Given the description of an element on the screen output the (x, y) to click on. 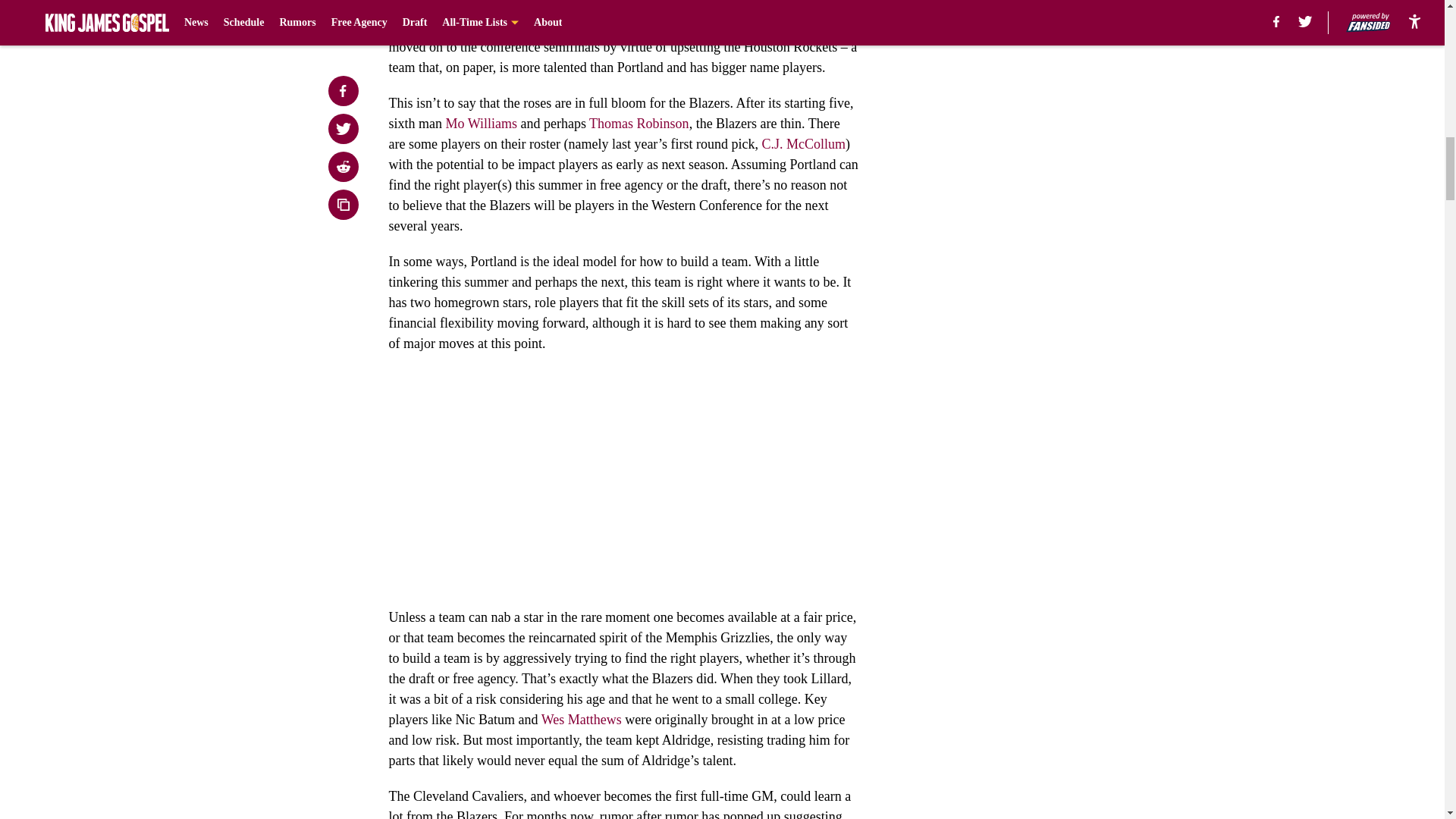
Mo Williams (480, 123)
Damian Lillard (429, 6)
C.J. McCollum (803, 143)
Wes Matthews (581, 719)
Thomas Robinson (638, 123)
